Given the description of an element on the screen output the (x, y) to click on. 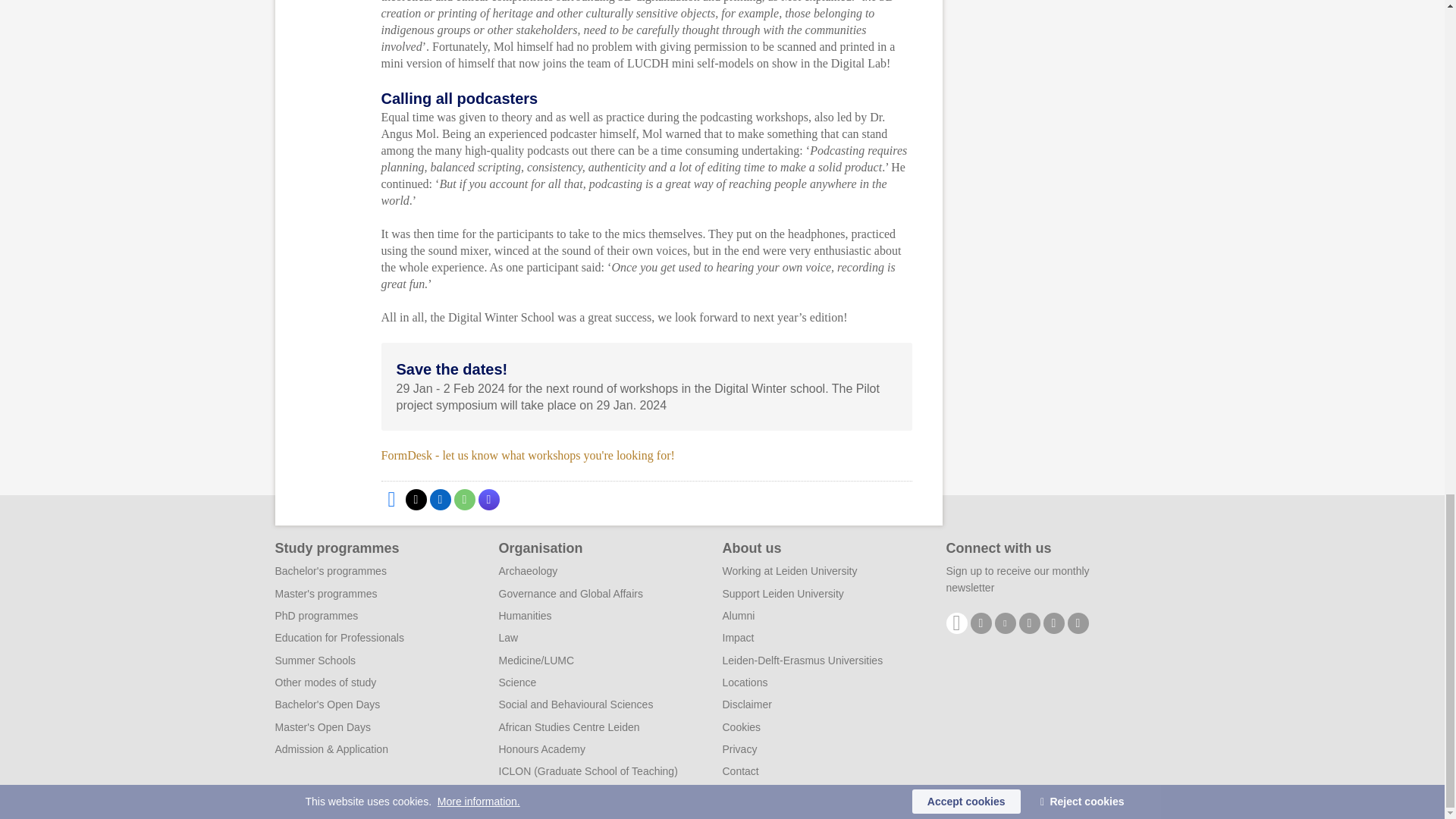
FormDesk - let us know what workshops you're looking for! (527, 454)
Share on LinkedIn (439, 499)
Share on Facebook (390, 499)
Share by Mastodon (488, 499)
Share by WhatsApp (463, 499)
Share on X (415, 499)
